Given the description of an element on the screen output the (x, y) to click on. 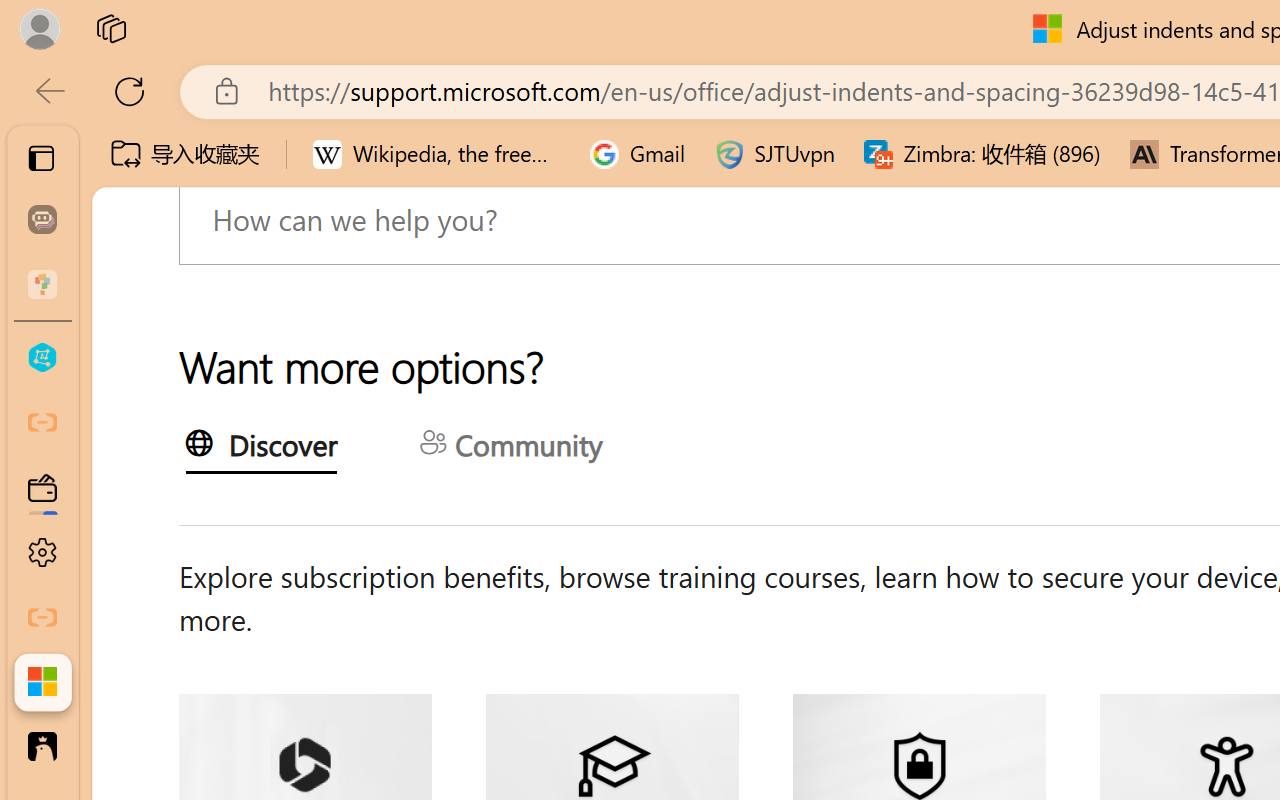
Community (509, 447)
